Given the description of an element on the screen output the (x, y) to click on. 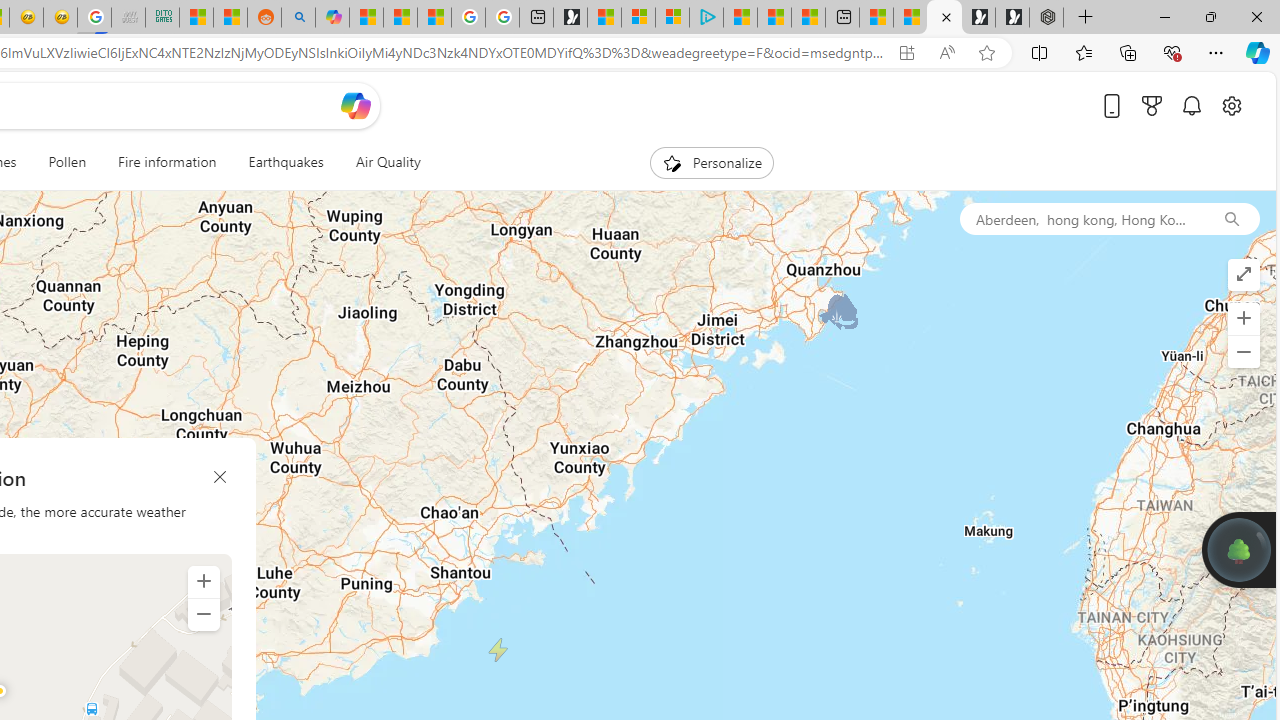
Microsoft Copilot in Bing (332, 17)
Zoom in (204, 581)
Personalize (711, 162)
Play Free Online Games | Games from Microsoft Start (1012, 17)
Open Copilot (355, 105)
Enter full screen mode (1243, 274)
DITOGAMES AG Imprint (162, 17)
Pollen (67, 162)
Earthquakes (285, 162)
Notifications (1192, 105)
Microsoft Start Gaming (570, 17)
